Given the description of an element on the screen output the (x, y) to click on. 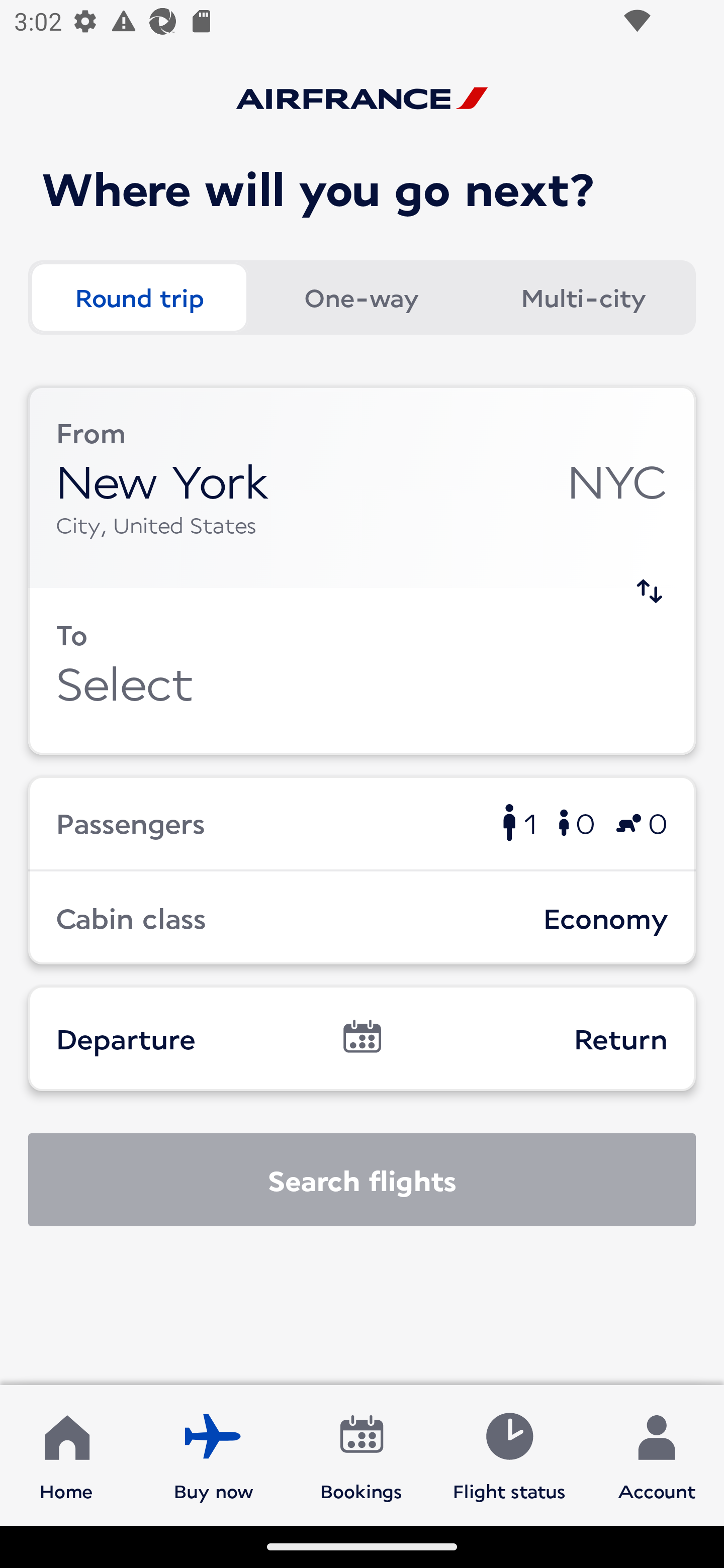
Round trip (139, 297)
One-way (361, 297)
Multi-city (583, 297)
From New York NYC City, United States (361, 486)
To Select (361, 671)
Passengers 1 0 0 (361, 822)
Cabin class Economy (361, 917)
Departure Return (361, 1038)
Search flights (361, 1179)
Home (66, 1454)
Bookings (361, 1454)
Flight status (509, 1454)
Account (657, 1454)
